Given the description of an element on the screen output the (x, y) to click on. 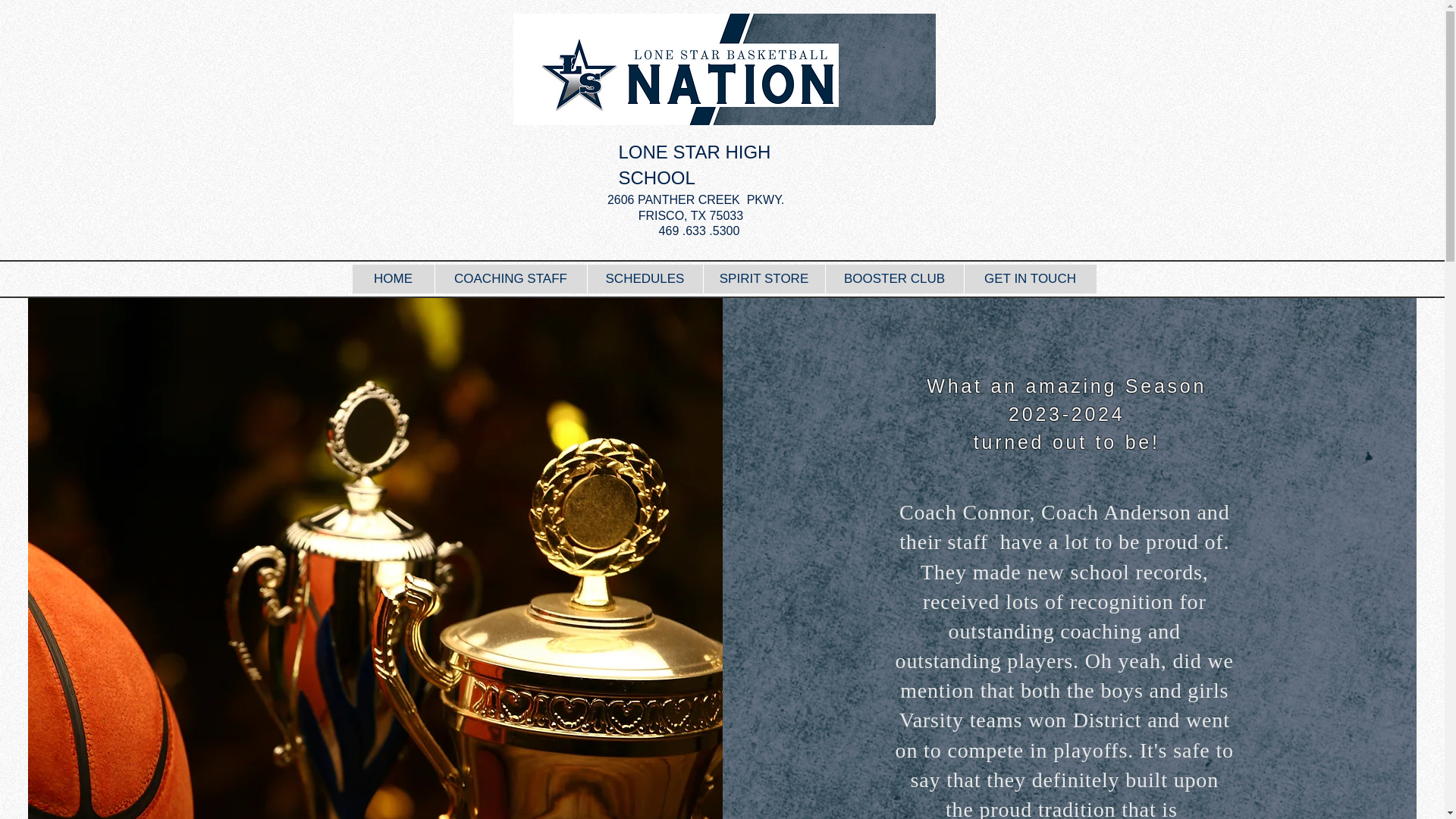
SCHEDULES (644, 278)
COACHING STAFF (509, 278)
GET IN TOUCH (1029, 278)
SPIRIT STORE (762, 278)
HOME (392, 278)
BOOSTER CLUB (894, 278)
